Given the description of an element on the screen output the (x, y) to click on. 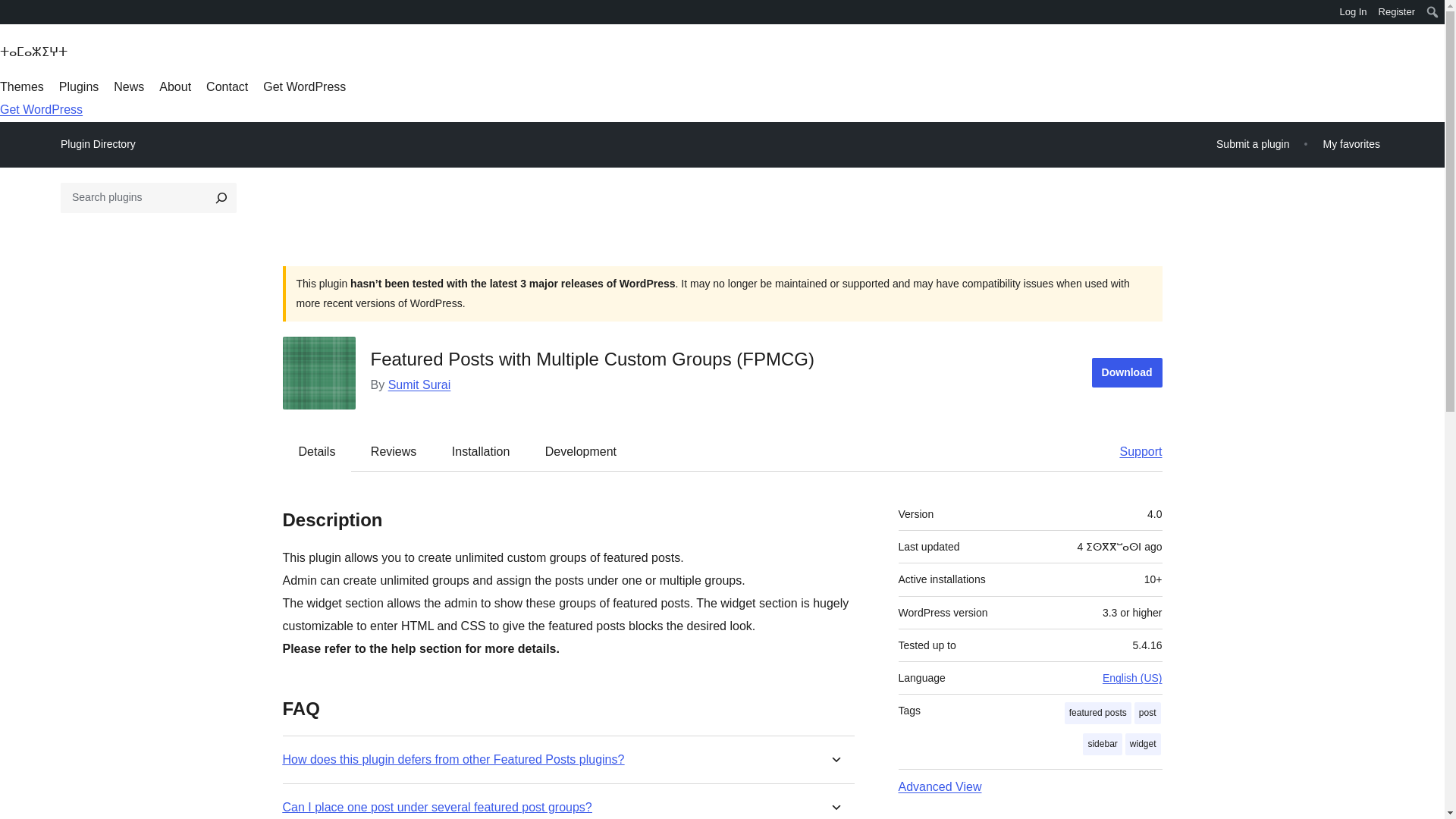
Plugins (79, 87)
Development (580, 451)
Submit a plugin (1253, 144)
Contact (226, 87)
Sumit Surai (419, 384)
My favorites (1351, 144)
Details (316, 451)
Log In (1353, 12)
WordPress.org (10, 10)
News (128, 87)
Can I place one post under several featured post groups? (436, 807)
Plugin Directory (97, 143)
Get WordPress (304, 87)
Support (1132, 451)
